Given the description of an element on the screen output the (x, y) to click on. 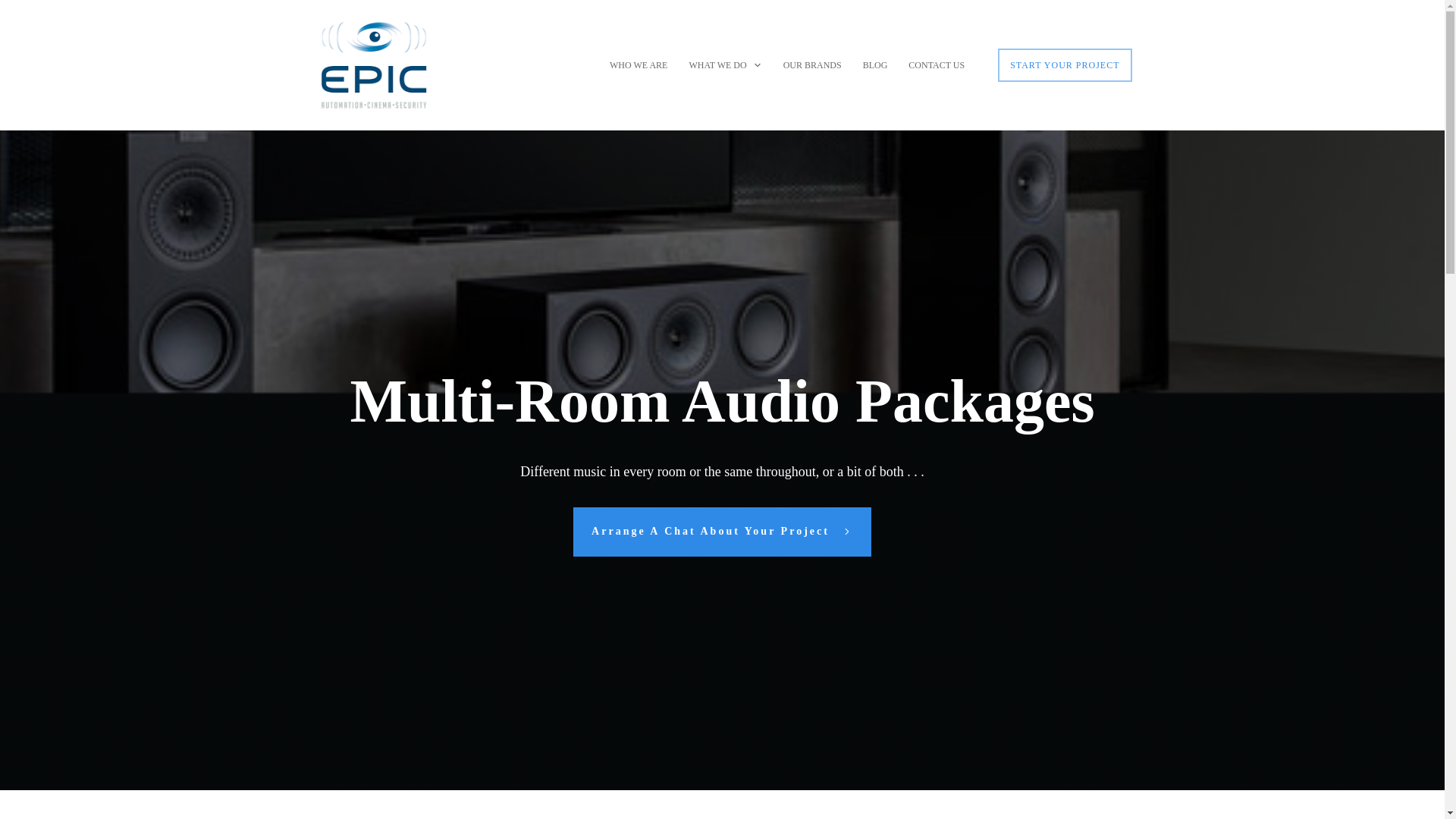
BLOG (875, 65)
OUR BRANDS (812, 65)
START YOUR PROJECT (1064, 65)
Arrange A Chat About Your Project (721, 531)
WHAT WE DO (724, 65)
WHO WE ARE (638, 65)
CONTACT US (935, 65)
